Given the description of an element on the screen output the (x, y) to click on. 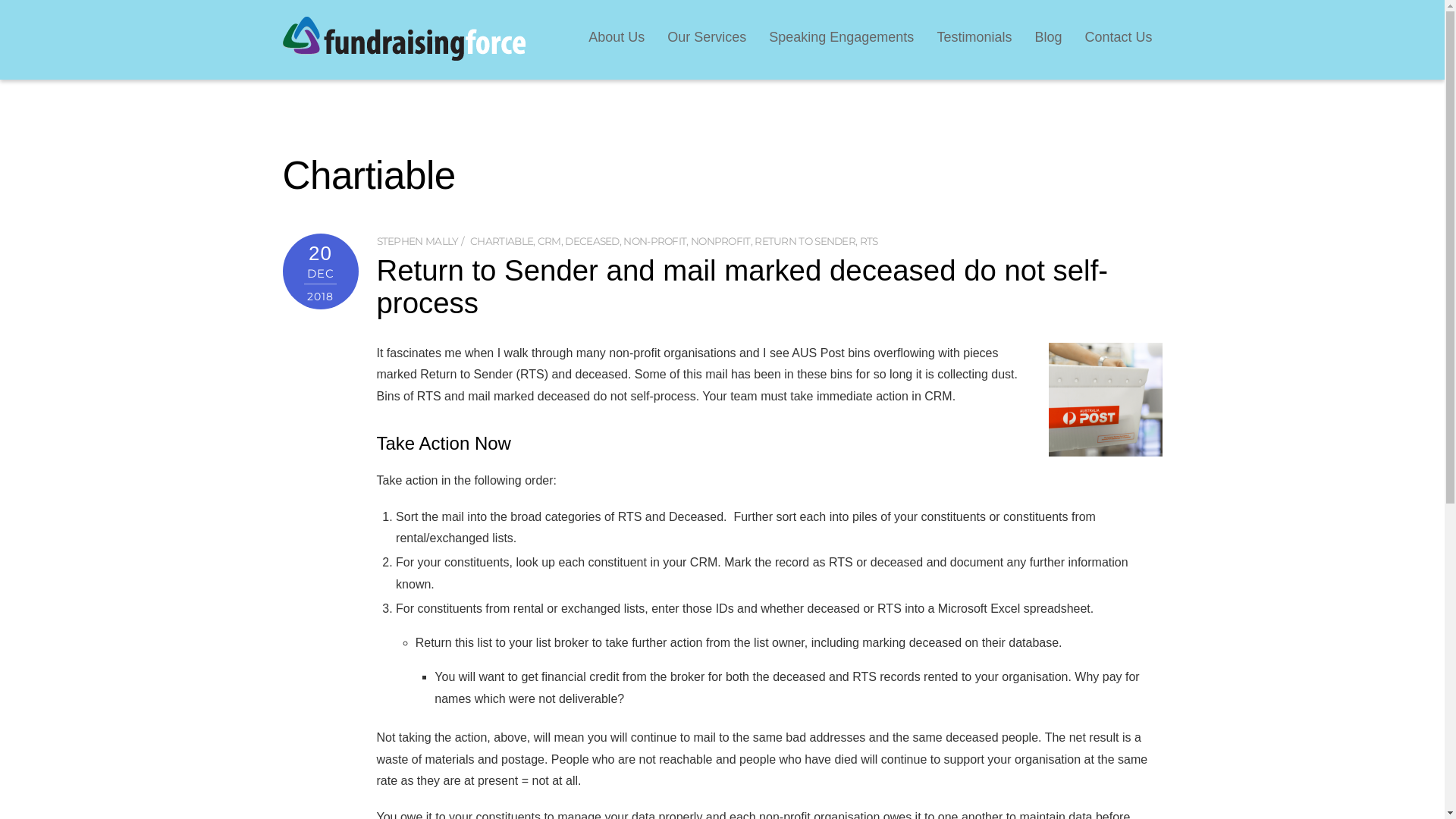
Speaking Engagements Element type: text (841, 34)
STEPHEN MALLY Element type: text (417, 241)
NONPROFIT Element type: text (720, 241)
NON-PROFIT Element type: text (654, 241)
About Us Element type: text (616, 34)
RETURN TO SENDER Element type: text (804, 241)
CRM Element type: text (549, 241)
FundraisingForce Element type: hover (403, 53)
FundraisingForce Element type: hover (403, 38)
Contact Us Element type: text (1117, 34)
Our Services Element type: text (706, 34)
DECEASED Element type: text (591, 241)
Blog Element type: text (1047, 34)
RTS Element type: text (868, 241)
CHARTIABLE Element type: text (501, 241)
Testimonials Element type: text (973, 34)
